Given the description of an element on the screen output the (x, y) to click on. 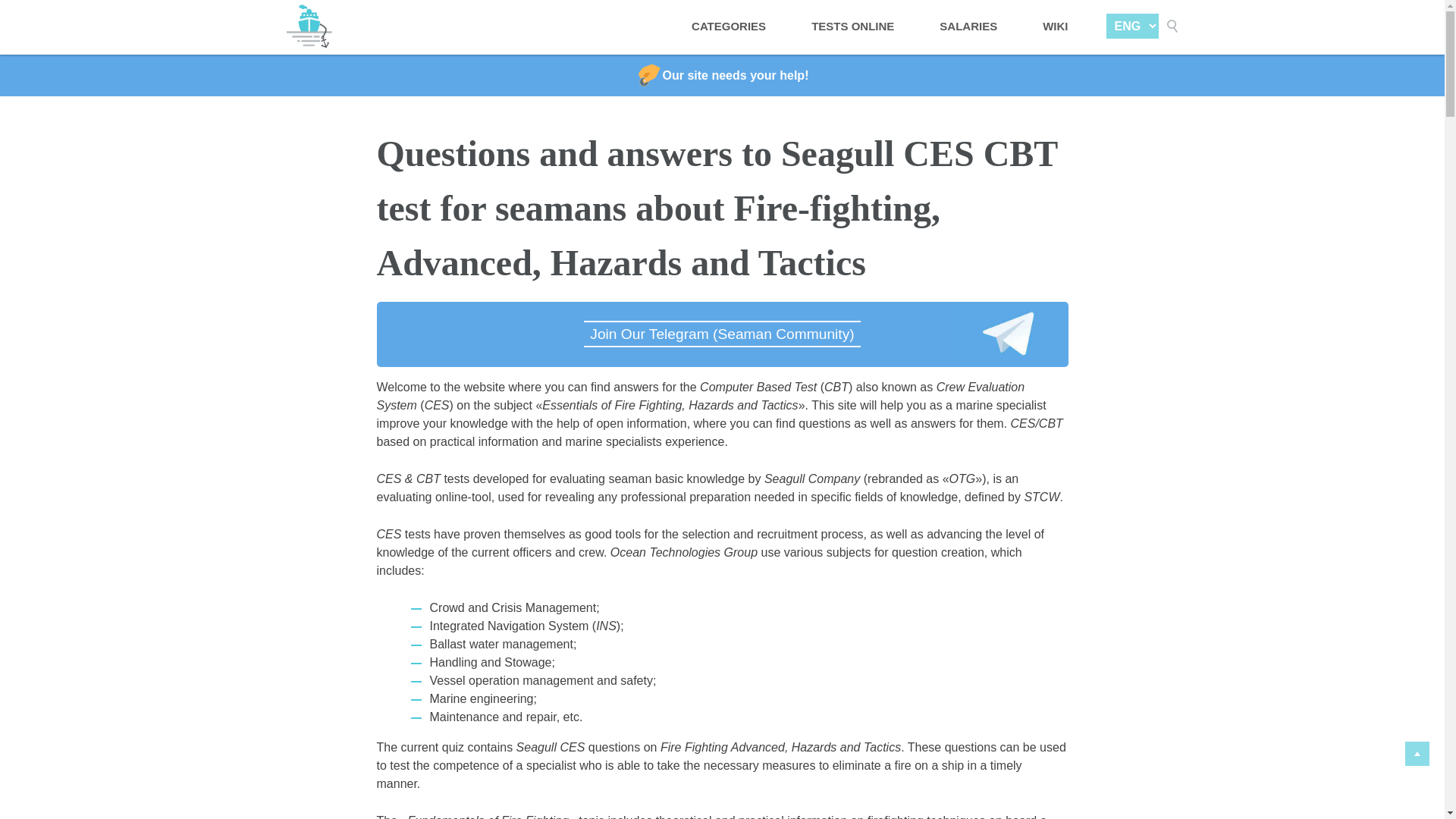
CATEGORIES (728, 26)
SALARIES (968, 26)
WIKI (1055, 26)
TESTS ONLINE (853, 26)
